Given the description of an element on the screen output the (x, y) to click on. 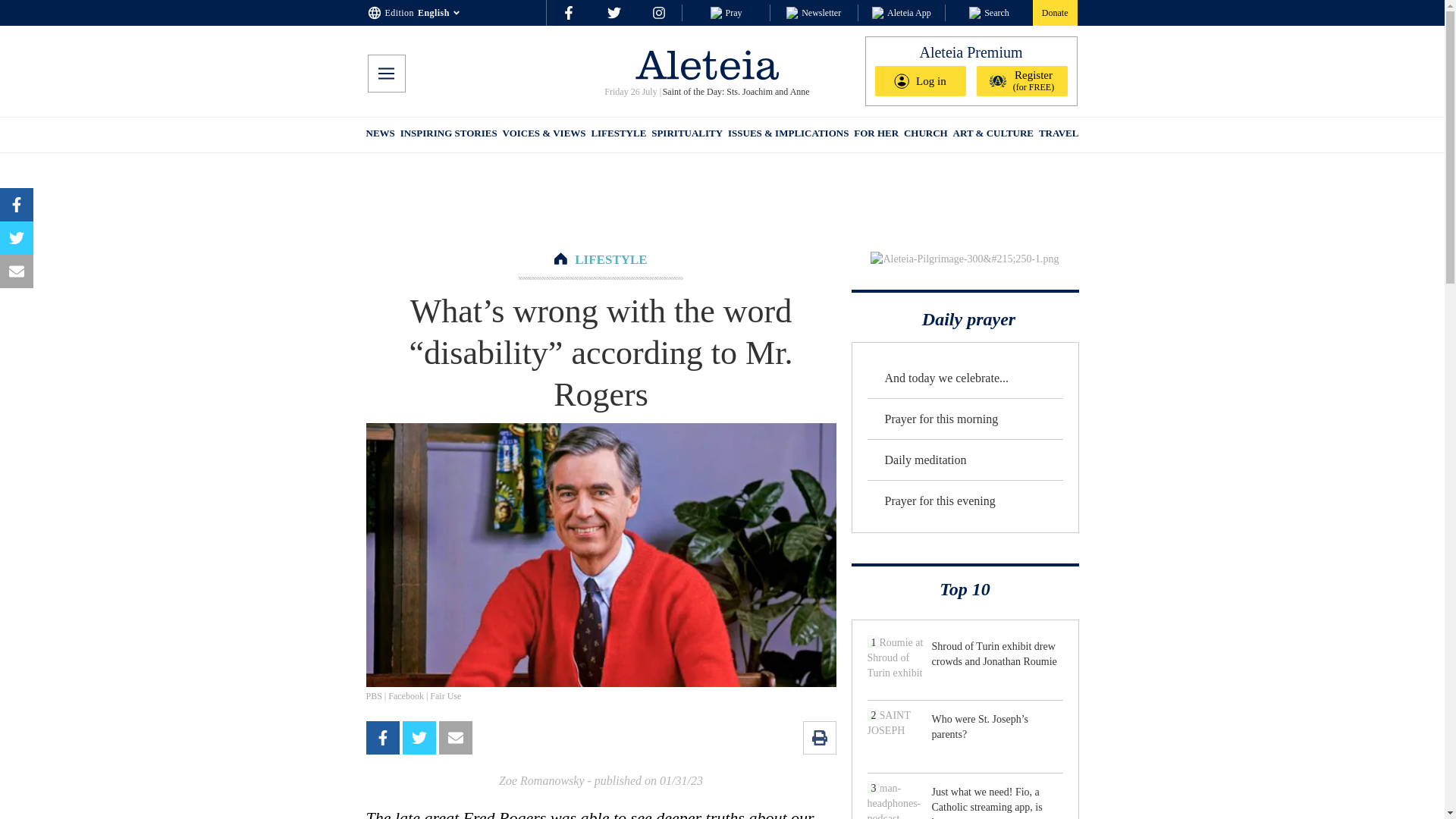
Search (989, 12)
Newsletter (813, 12)
LIFESTYLE (618, 134)
TRAVEL (1058, 134)
FOR HER (875, 134)
Donate (1054, 12)
Saint of the Day: Sts. Joachim and Anne (735, 91)
Pray (725, 12)
Log in (920, 81)
SPIRITUALITY (686, 134)
INSPIRING STORIES (448, 134)
LIFESTYLE (610, 259)
CHURCH (925, 134)
Aleteia App (901, 12)
